Given the description of an element on the screen output the (x, y) to click on. 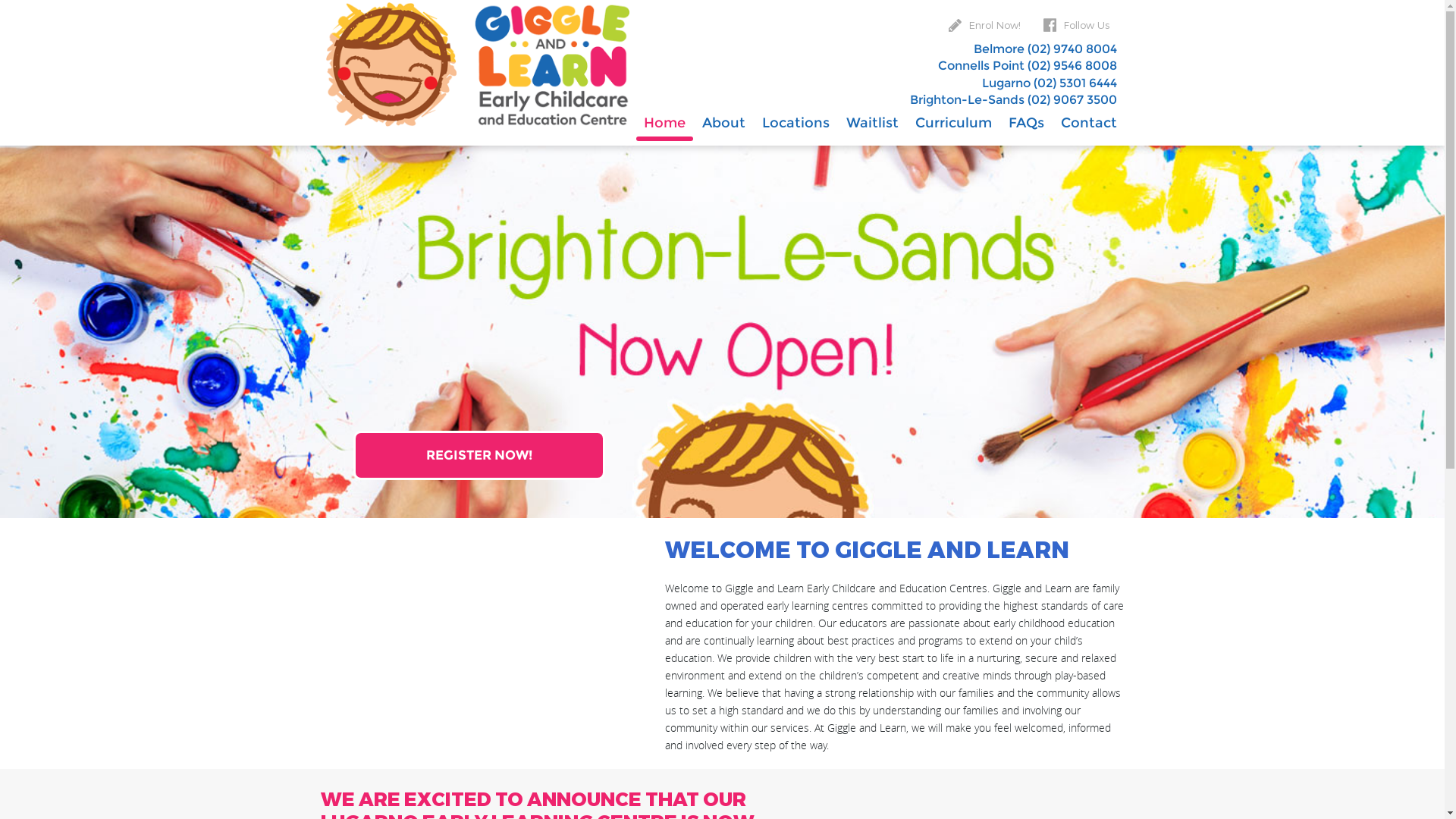
FAQs Element type: text (1026, 122)
Enrol Now! Element type: text (983, 24)
Follow Us Element type: text (1076, 24)
Brighton-Le-Sands (02) 9067 3500 Element type: text (1013, 99)
Locations Element type: text (794, 122)
Lugarno (02) 5301 6444 Element type: text (1048, 83)
JOIN OUR WAITLIST Element type: text (479, 455)
Curriculum Element type: text (952, 122)
Belmore (02) 9740 8004 Element type: text (1045, 48)
Connells Point (02) 9546 8008 Element type: text (1026, 65)
Home Element type: text (663, 122)
About Element type: text (723, 122)
Contact Element type: text (1087, 122)
Waitlist Element type: text (872, 122)
